Given the description of an element on the screen output the (x, y) to click on. 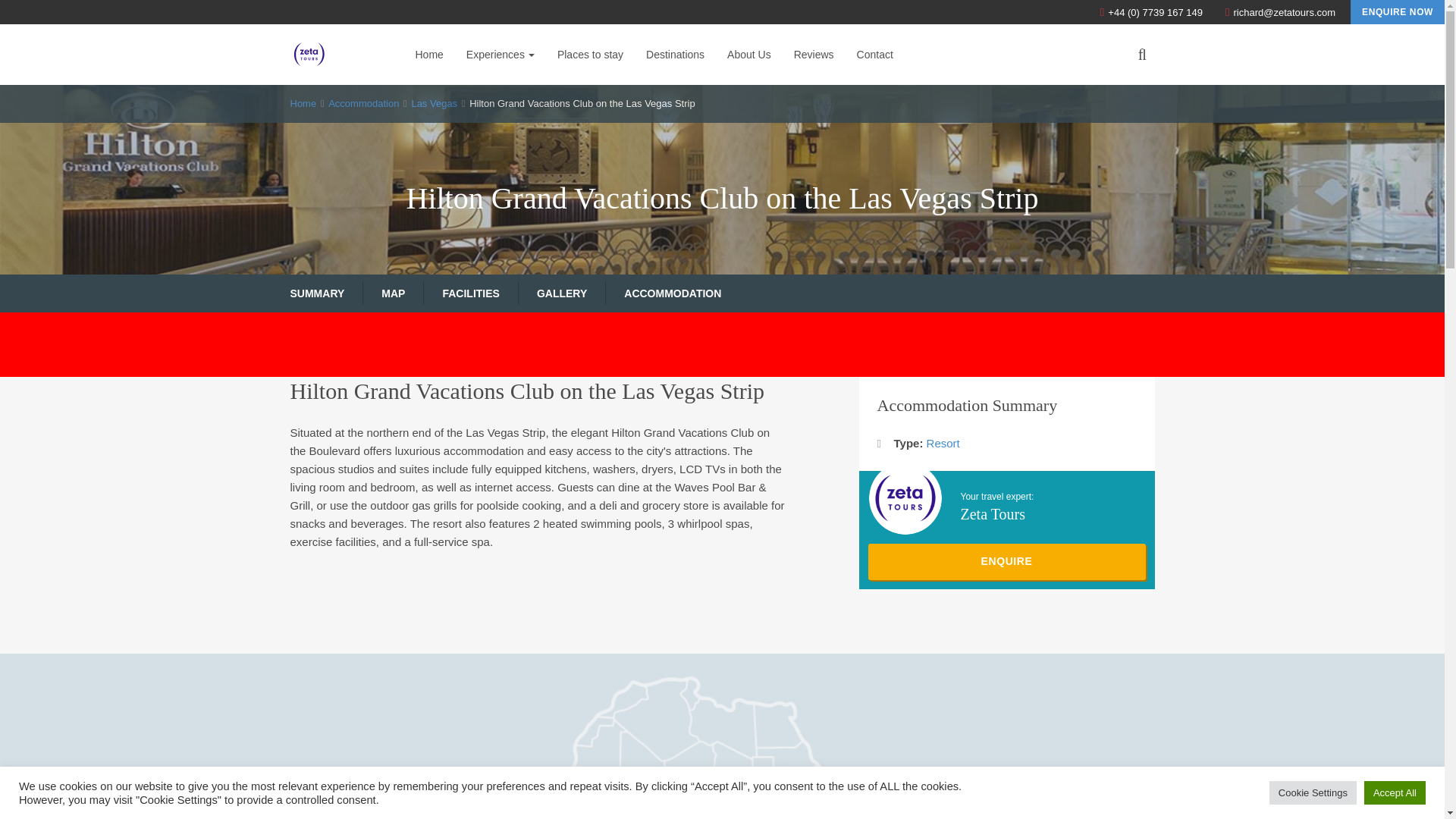
Experiences (500, 54)
Honeymoon (485, 91)
SUMMARY (316, 293)
Self-Drive (479, 91)
Destinations (675, 54)
Beach (329, 91)
Accommodation (363, 103)
Las Vegas (433, 103)
About Us (749, 54)
Destinations (675, 54)
Enquire Now (1397, 12)
Reviews (814, 54)
Adventure (338, 91)
Safari (469, 91)
ENQUIRE (1005, 560)
